Given the description of an element on the screen output the (x, y) to click on. 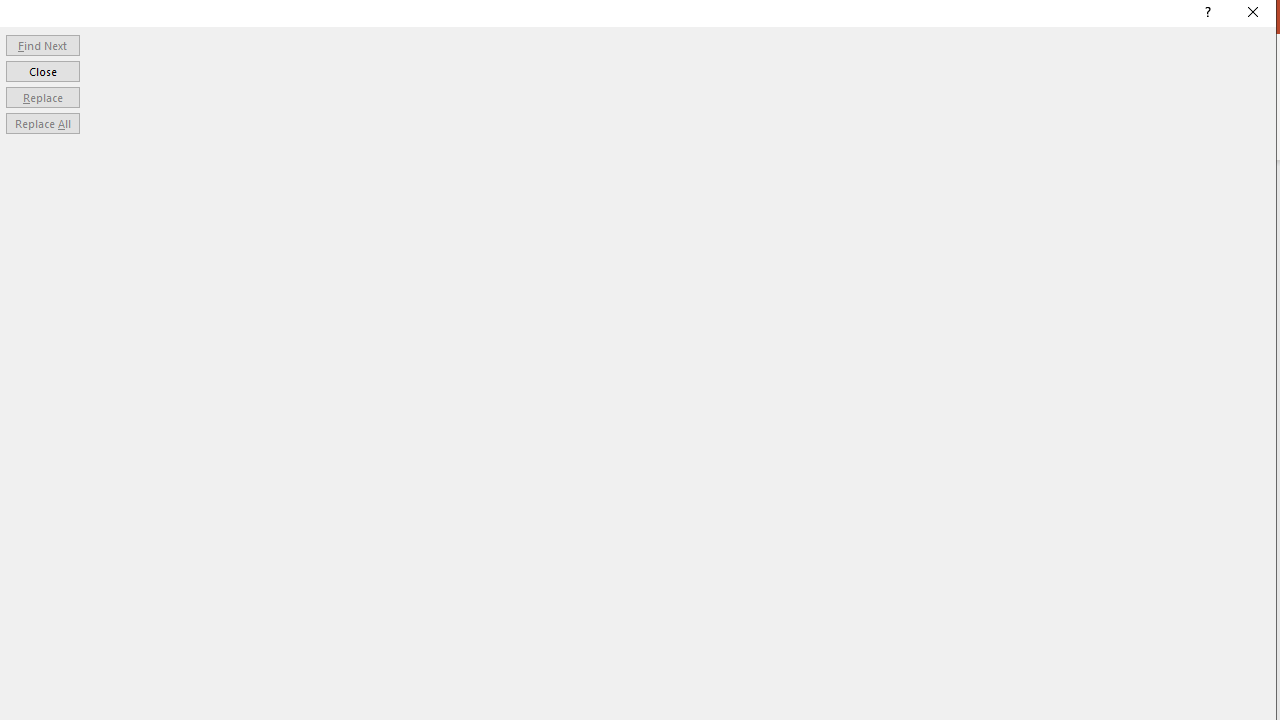
Replace All (42, 123)
Replace (42, 96)
Find Next (42, 44)
